Given the description of an element on the screen output the (x, y) to click on. 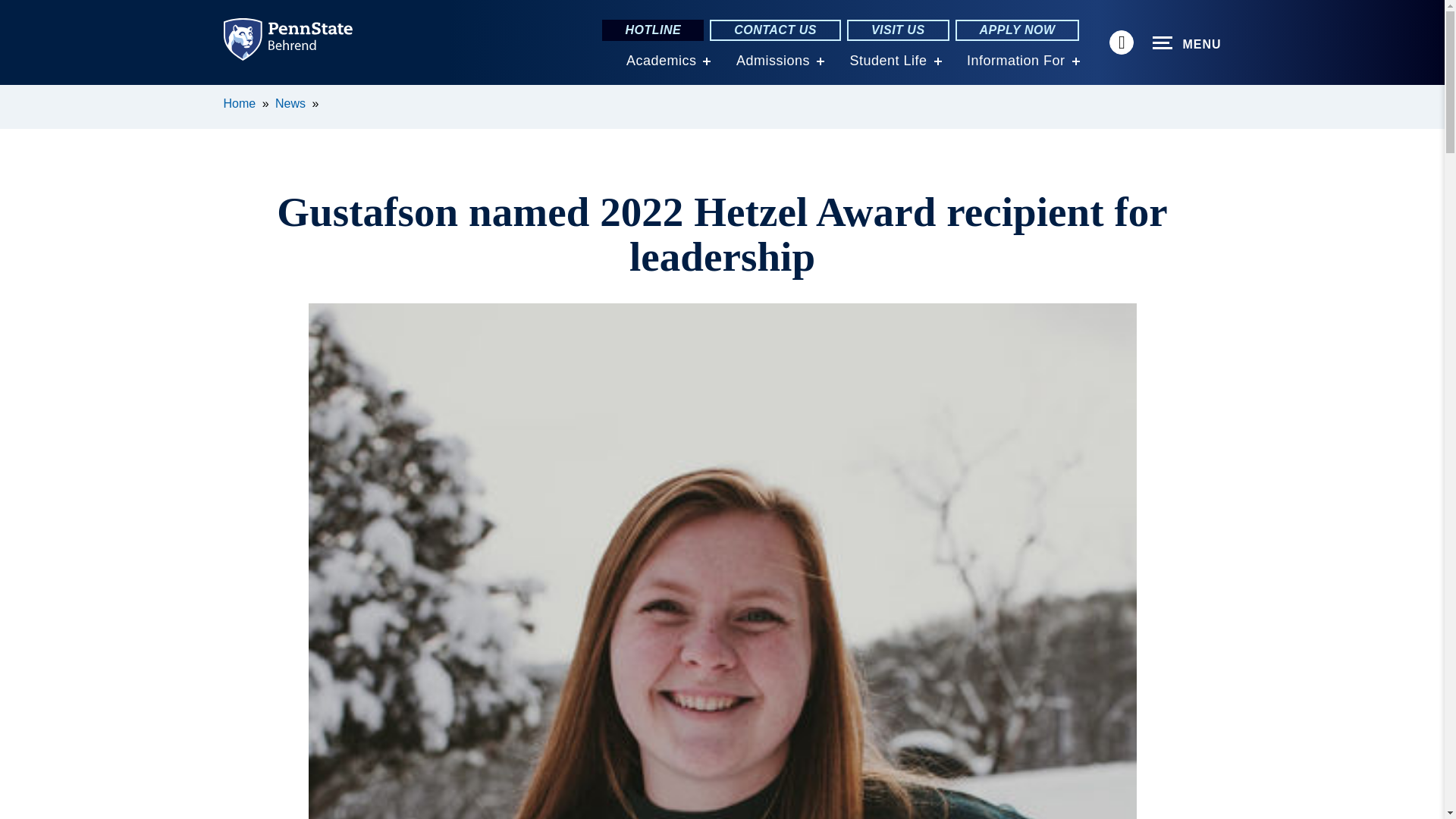
Student Life (887, 60)
APPLY NOW (1017, 29)
VISIT US (898, 29)
SKIP TO MAIN CONTENT (19, 95)
Academics (661, 60)
CONTACT US (775, 29)
MENU (1187, 43)
Admissions (772, 60)
HOTLINE (652, 29)
